Given the description of an element on the screen output the (x, y) to click on. 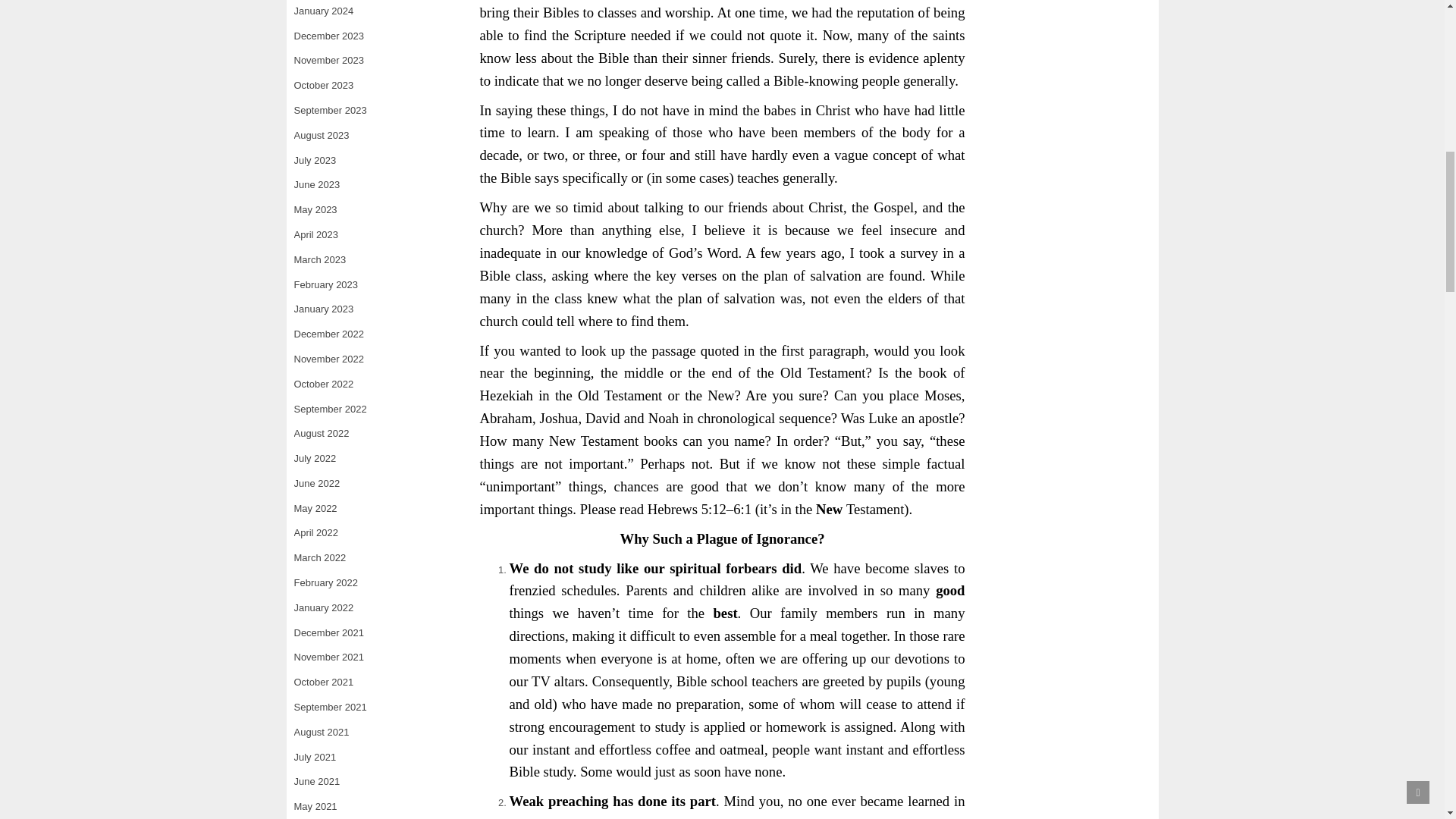
September 2023 (330, 110)
November 2023 (329, 60)
June 2023 (317, 184)
May 2023 (315, 209)
December 2023 (329, 35)
January 2024 (323, 10)
August 2023 (321, 134)
October 2023 (323, 84)
July 2023 (315, 160)
